Given the description of an element on the screen output the (x, y) to click on. 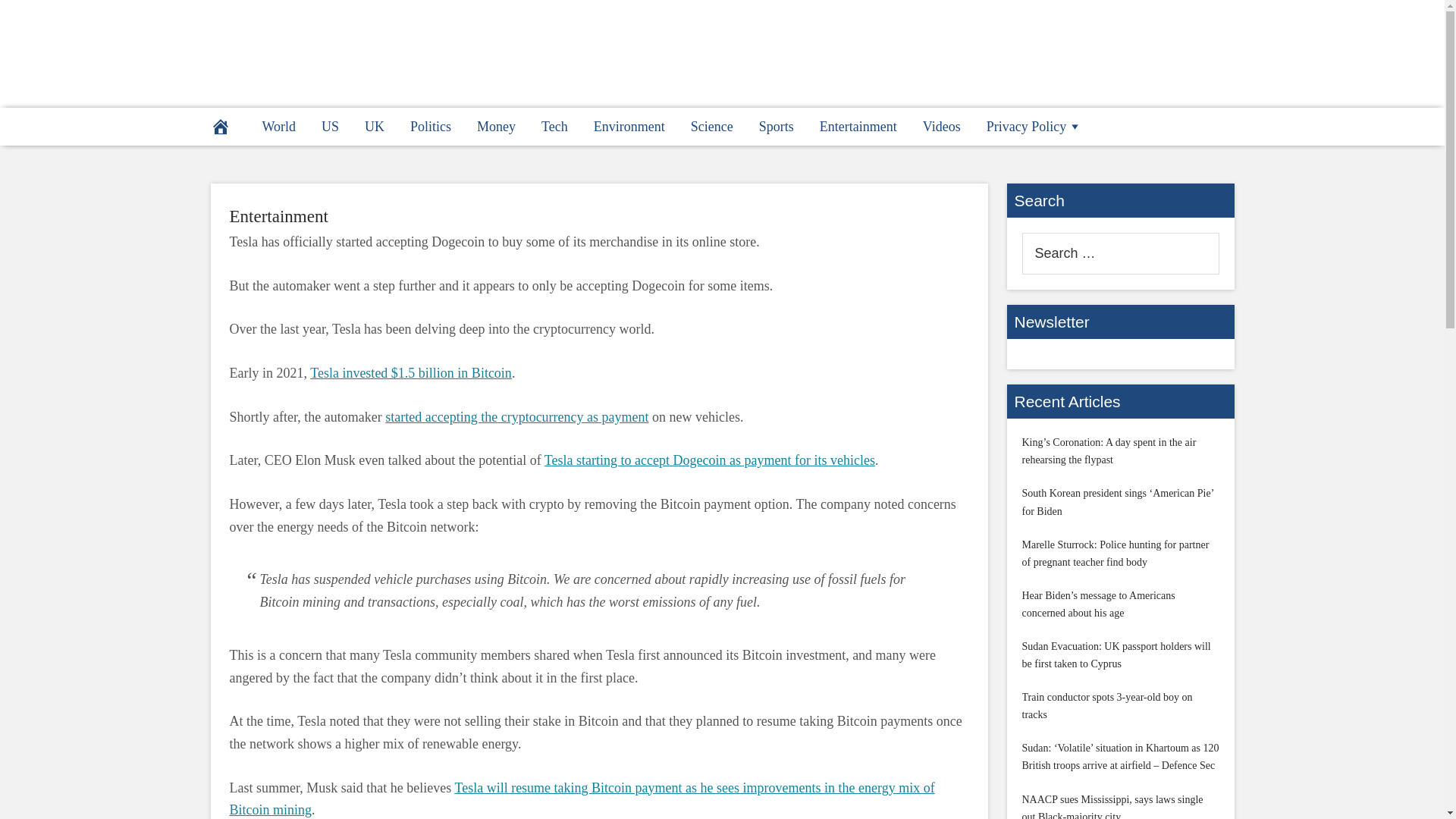
started accepting the cryptocurrency as payment (516, 417)
US (330, 126)
Entertainment (277, 216)
Sports (775, 126)
Entertainment (277, 216)
World (278, 126)
Science (711, 126)
Money (496, 126)
Environment (629, 126)
Politics (430, 126)
Entertainment (858, 126)
Privacy Policy (1035, 126)
UK (374, 126)
Tech (554, 126)
